Given the description of an element on the screen output the (x, y) to click on. 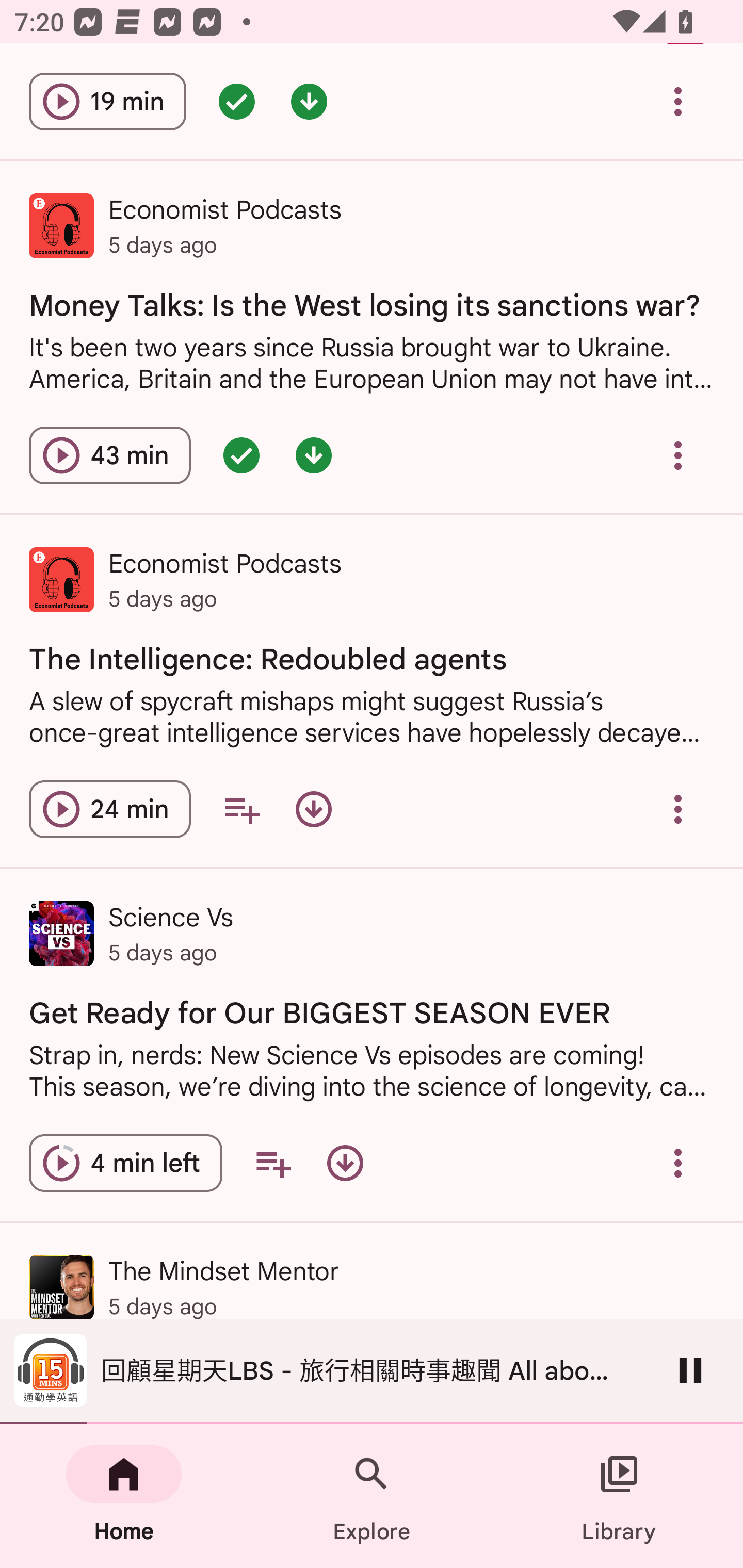
Episode queued - double tap for options (236, 101)
Episode downloaded - double tap for options (308, 101)
Overflow menu (677, 101)
Episode queued - double tap for options (241, 455)
Episode downloaded - double tap for options (313, 455)
Overflow menu (677, 455)
Add to your queue (241, 808)
Download episode (313, 808)
Overflow menu (677, 808)
Add to your queue (273, 1162)
Download episode (345, 1162)
Overflow menu (677, 1162)
Pause (690, 1370)
Explore (371, 1495)
Library (619, 1495)
